Given the description of an element on the screen output the (x, y) to click on. 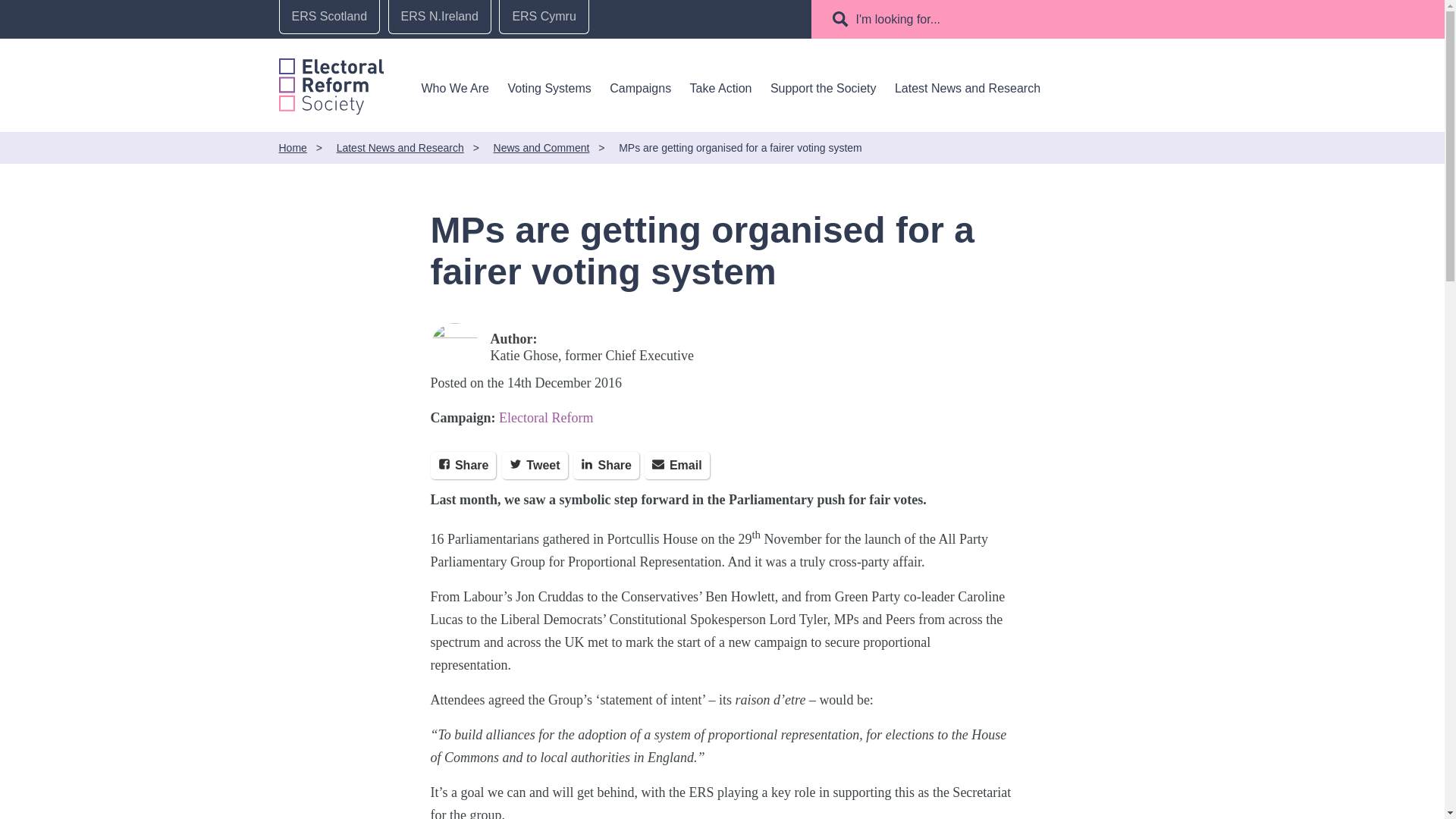
Campaigns (640, 88)
Share via Email (677, 465)
ERS N.Ireland (440, 17)
Latest News and Research (968, 88)
Share on Facebook (463, 465)
Who We Are (455, 88)
Voting Systems (548, 88)
ERS Scotland (329, 17)
ERS Cymru (543, 17)
Share on LinkedIn (606, 465)
